Given the description of an element on the screen output the (x, y) to click on. 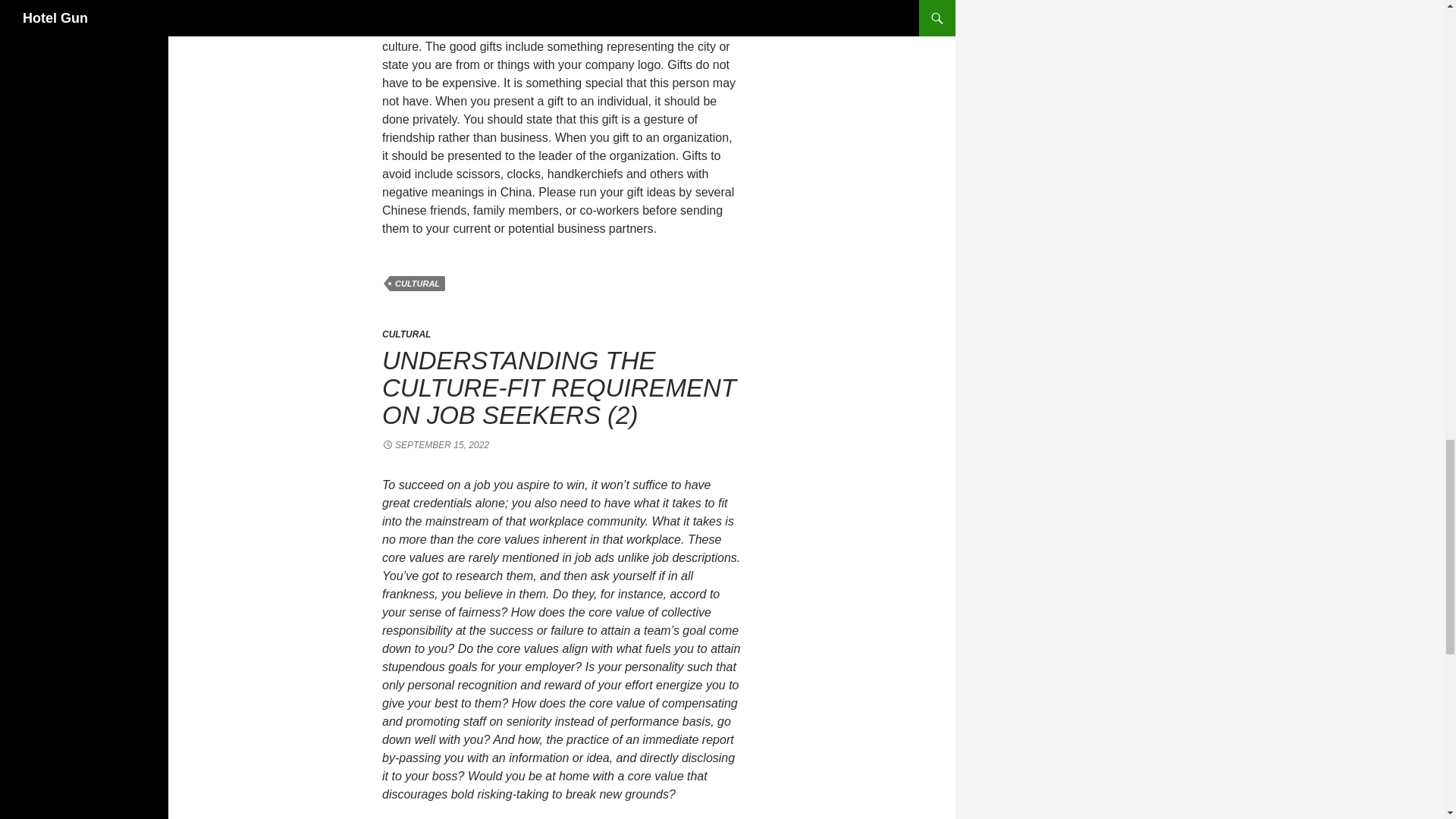
CULTURAL (417, 283)
CULTURAL (405, 334)
SEPTEMBER 15, 2022 (435, 444)
